Given the description of an element on the screen output the (x, y) to click on. 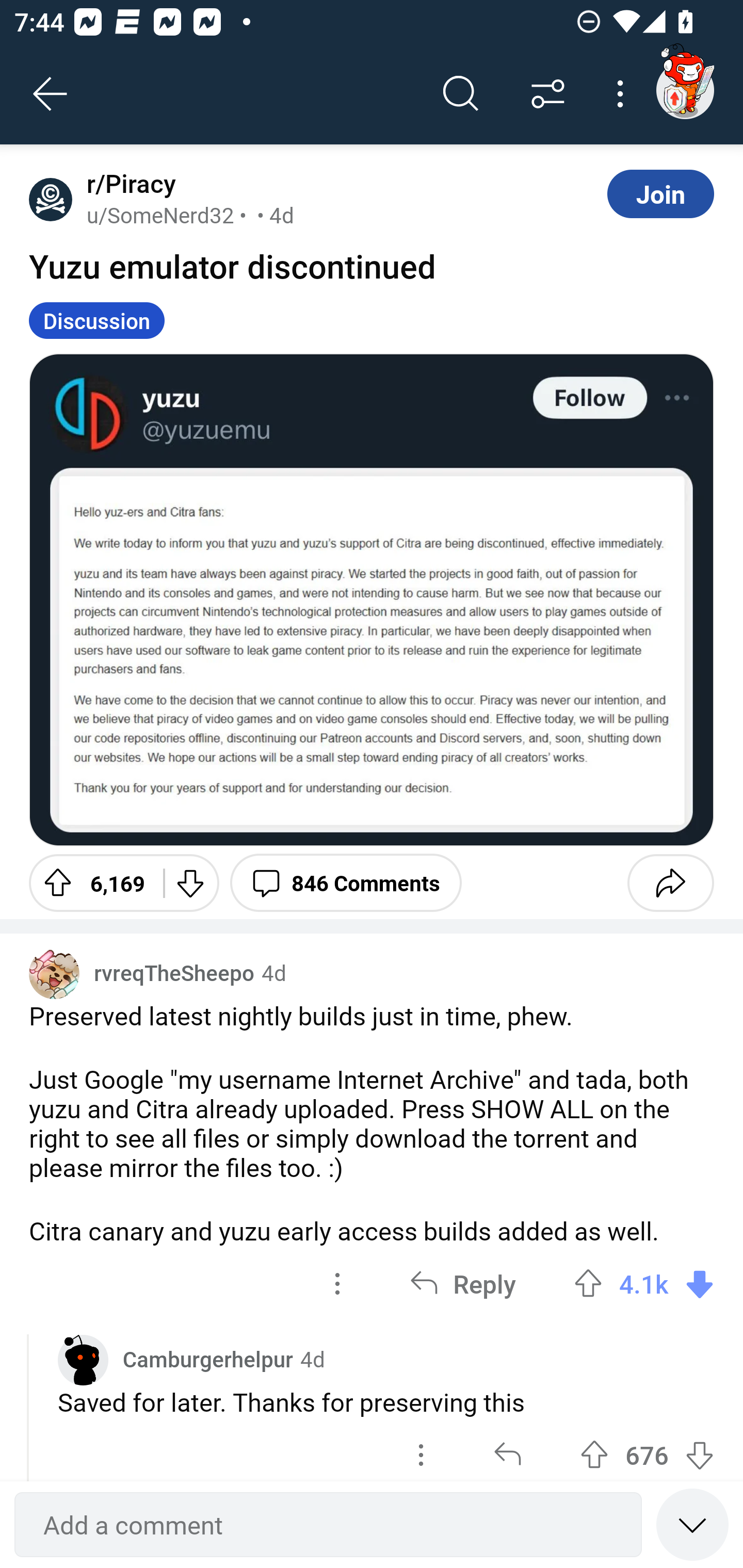
Back (50, 93)
TestAppium002 account (685, 90)
Search comments (460, 93)
Sort comments (547, 93)
More options (623, 93)
r/Piracy (127, 183)
Join (660, 193)
Avatar (50, 199)
Discussion (96, 320)
Image (371, 599)
Upvote 6,169 (88, 882)
Downvote (189, 882)
846 Comments (346, 882)
Share (670, 882)
Avatar (53, 973)
options (337, 1284)
Reply (462, 1284)
Upvote 4.1k 4105 votes Downvote (643, 1284)
Custom avatar (82, 1359)
Saved for later. Thanks for preserving this (385, 1401)
options (420, 1450)
Upvote 676 676 votes Downvote (647, 1450)
Speed read (692, 1524)
Add a comment (327, 1524)
